Given the description of an element on the screen output the (x, y) to click on. 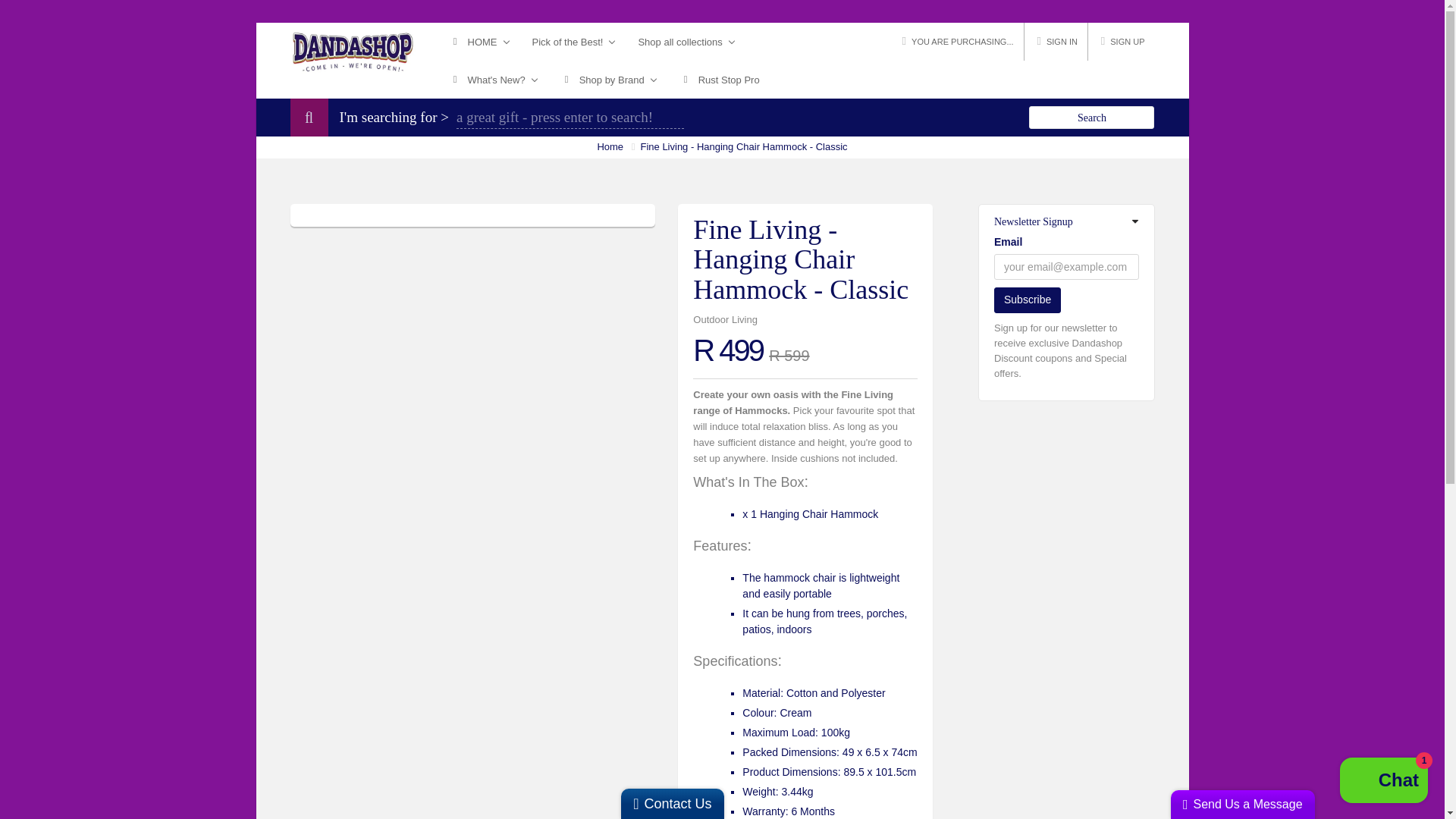
Pick of the Best! (574, 41)
Subscribe (1027, 299)
Shopify online store chat (1383, 781)
Home (609, 146)
HOME (479, 41)
Shop all collections (686, 41)
